Given the description of an element on the screen output the (x, y) to click on. 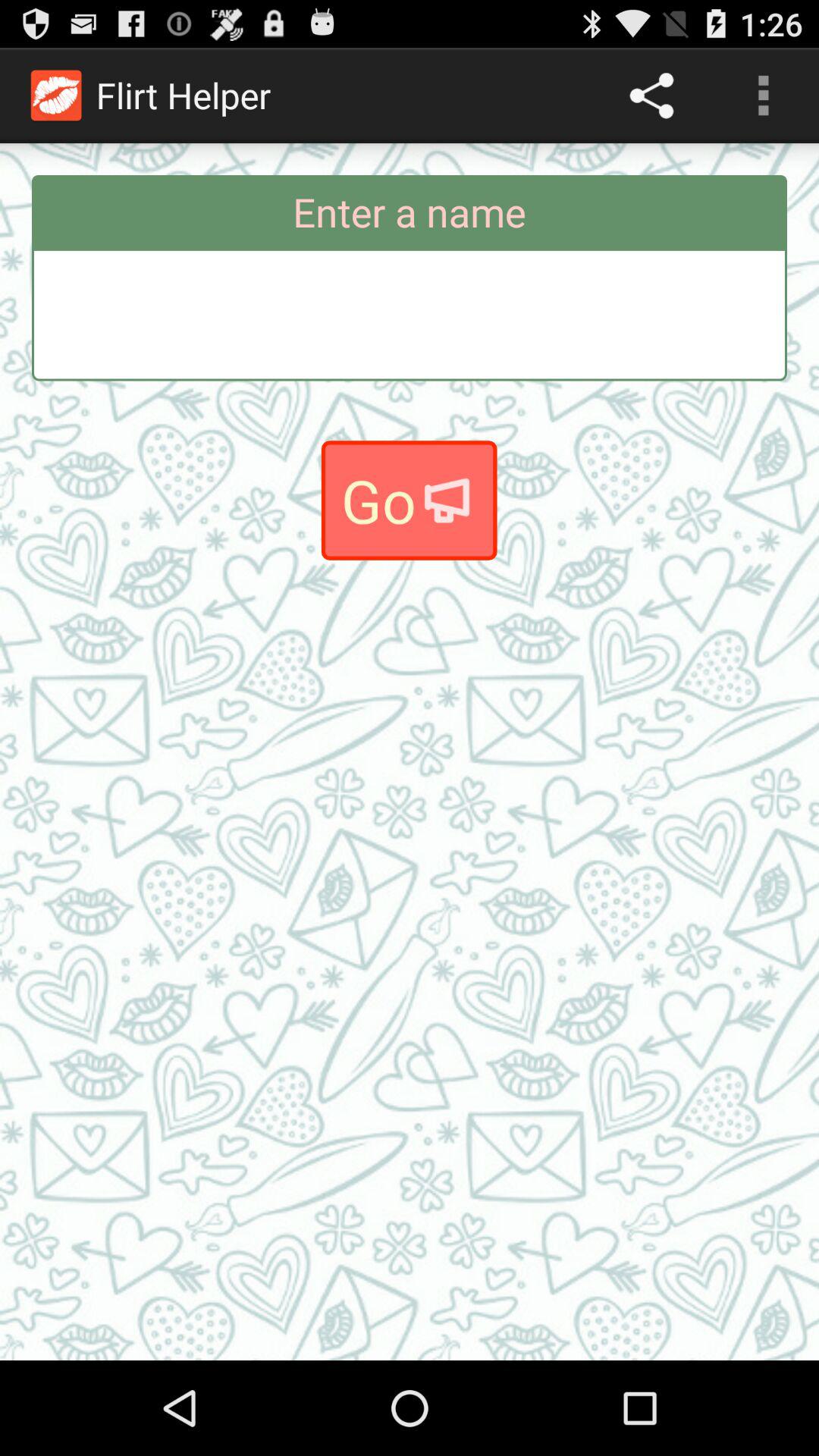
enter name (409, 314)
